Given the description of an element on the screen output the (x, y) to click on. 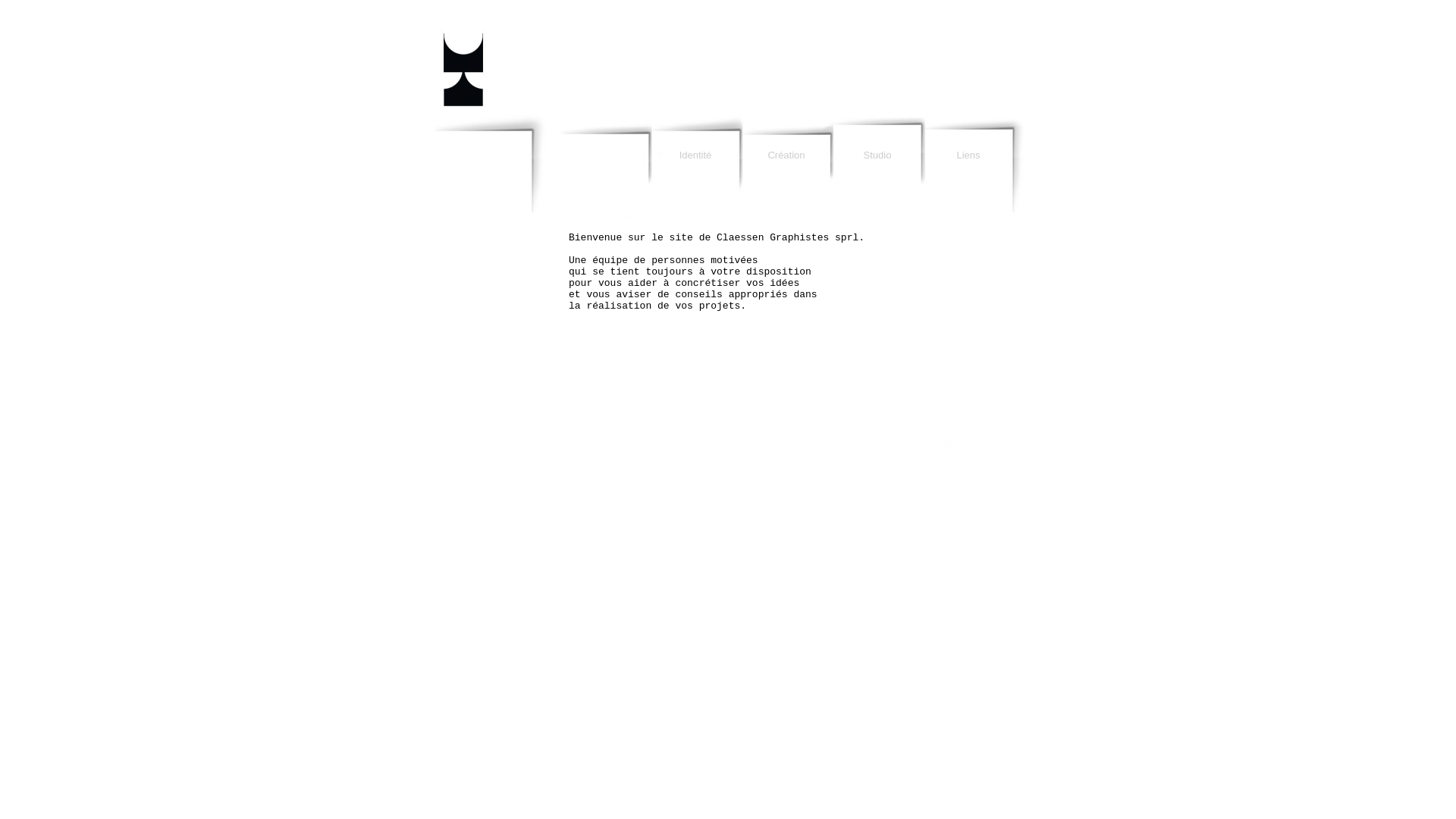
Studio Element type: text (876, 197)
Liens Element type: text (967, 197)
Logotype Claessen Graphistes
+ Retour vers la page d'accueil Element type: hover (489, 56)
